Given the description of an element on the screen output the (x, y) to click on. 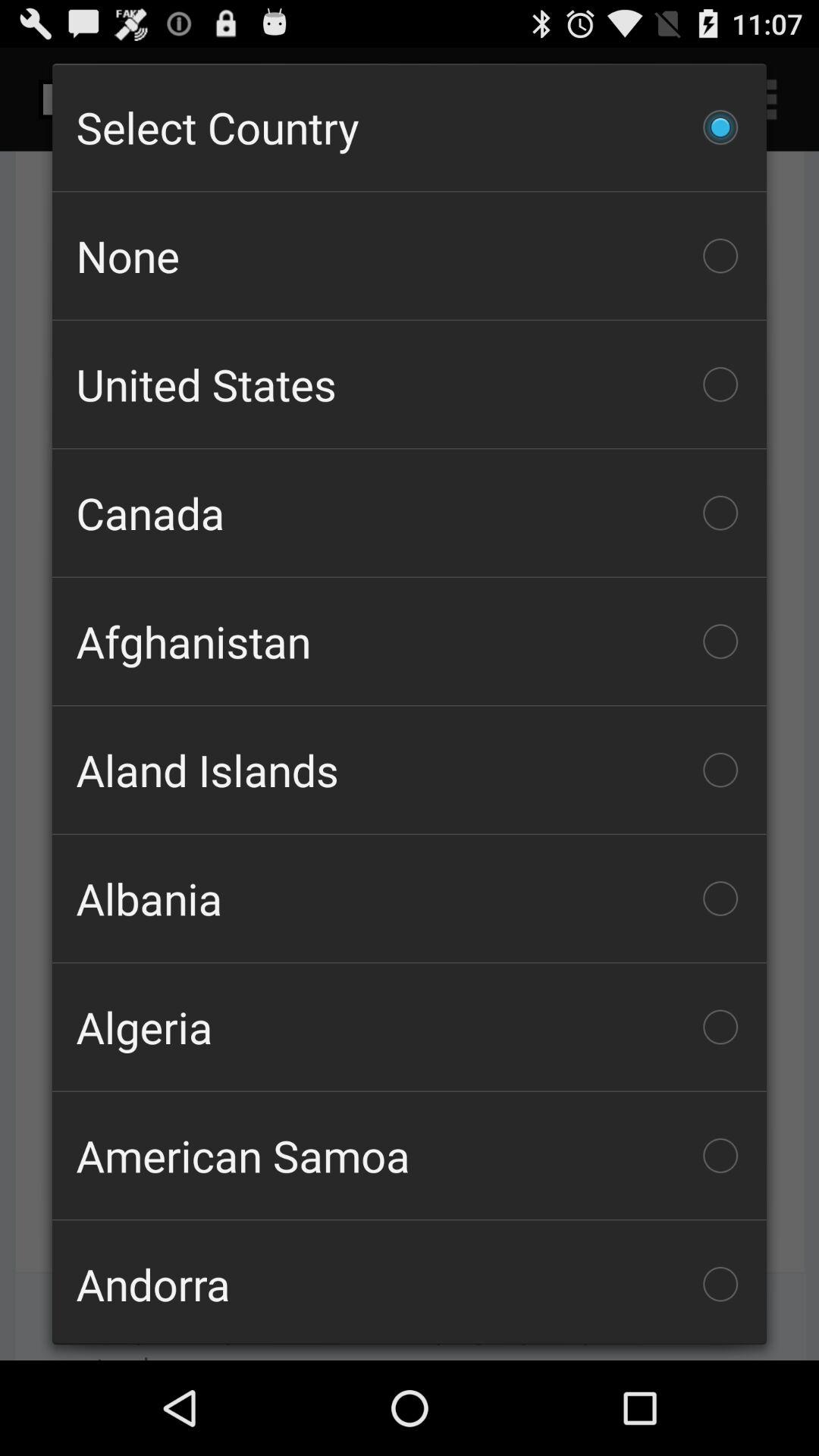
turn on item above united states checkbox (409, 255)
